Given the description of an element on the screen output the (x, y) to click on. 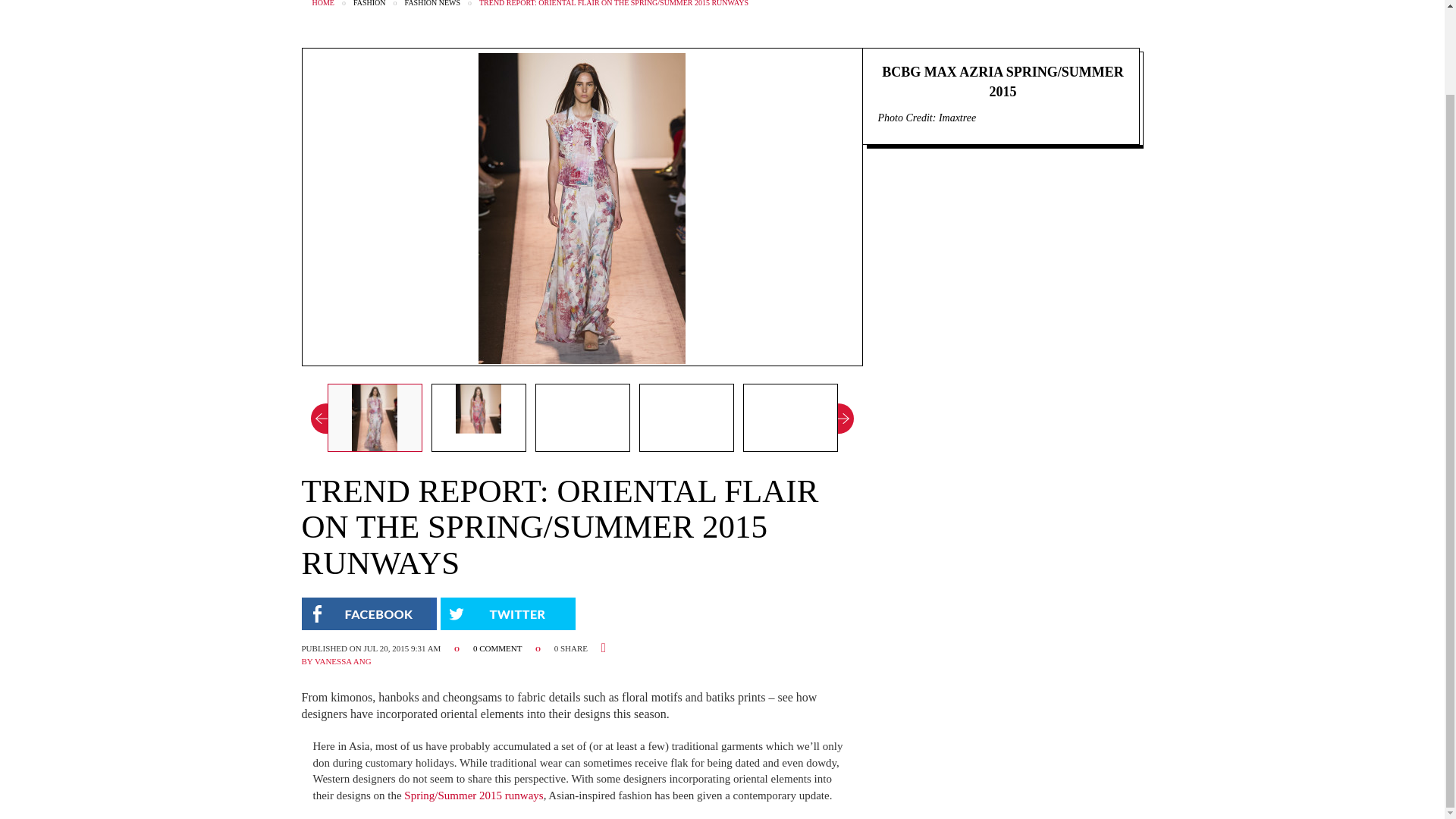
0 COMMENT (498, 647)
